Given the description of an element on the screen output the (x, y) to click on. 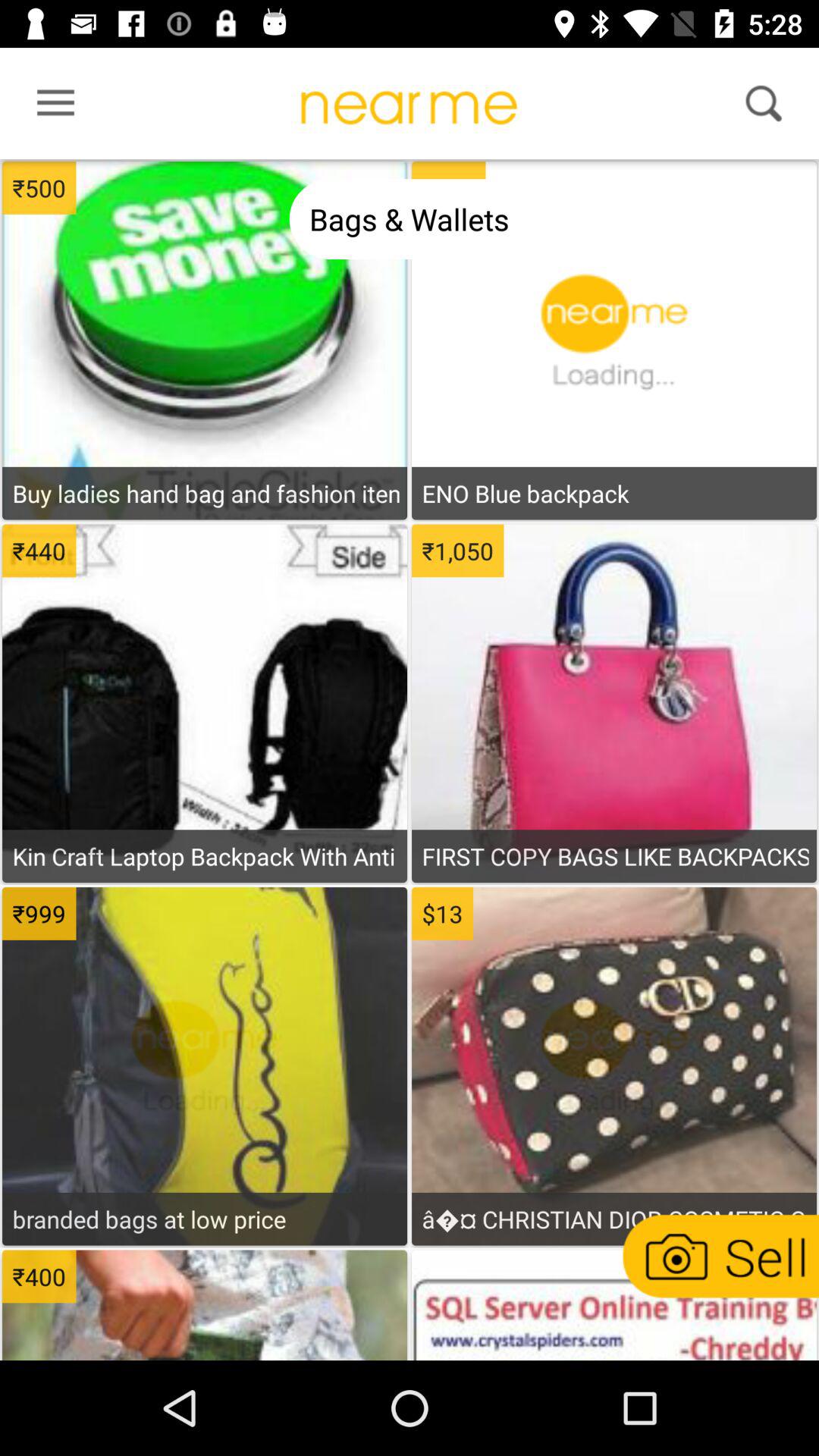
flyout (50, 107)
